Given the description of an element on the screen output the (x, y) to click on. 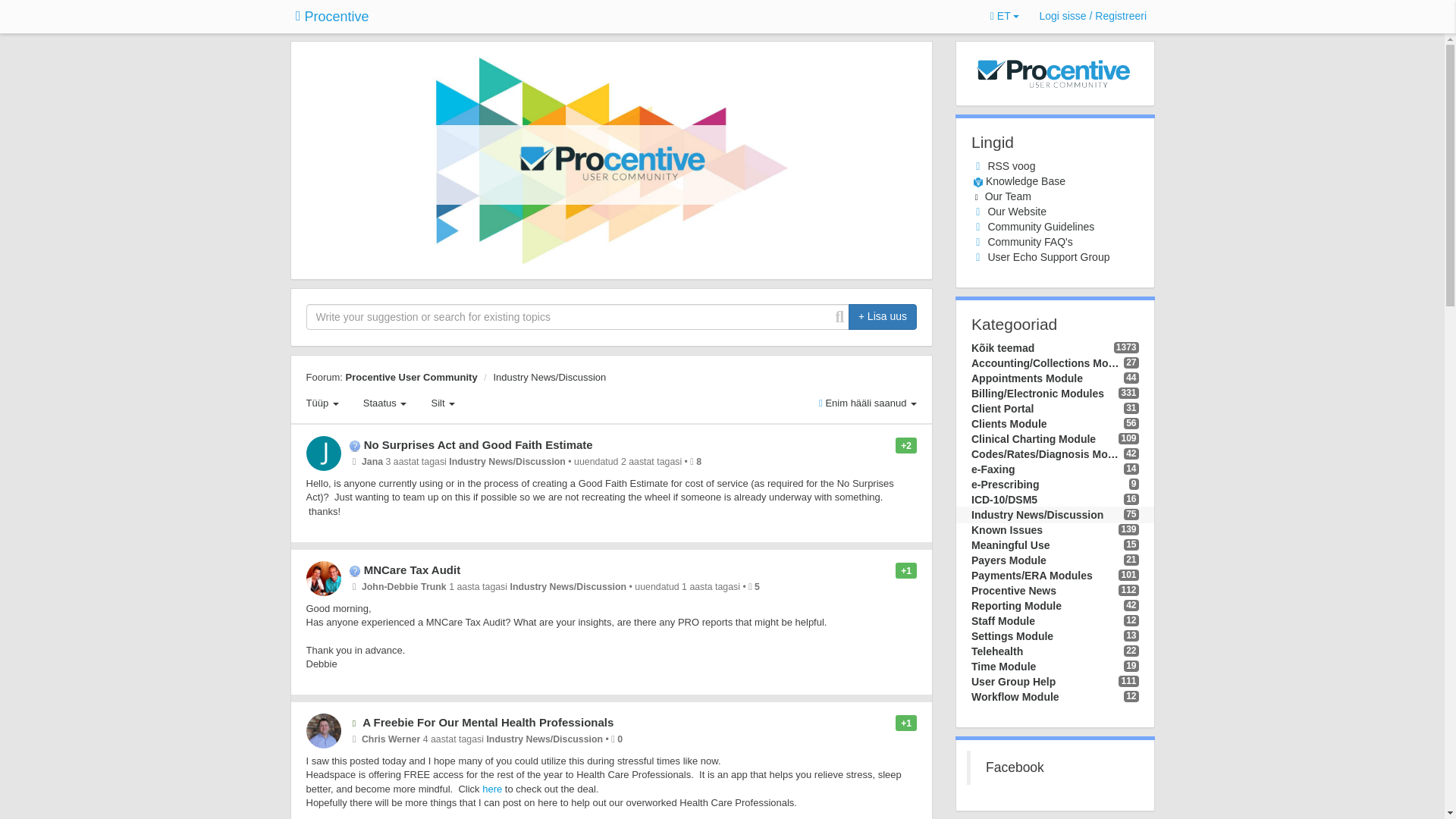
Lisa uus (882, 316)
Procentive (331, 16)
ET (1005, 16)
Procentive User Community (411, 377)
